Given the description of an element on the screen output the (x, y) to click on. 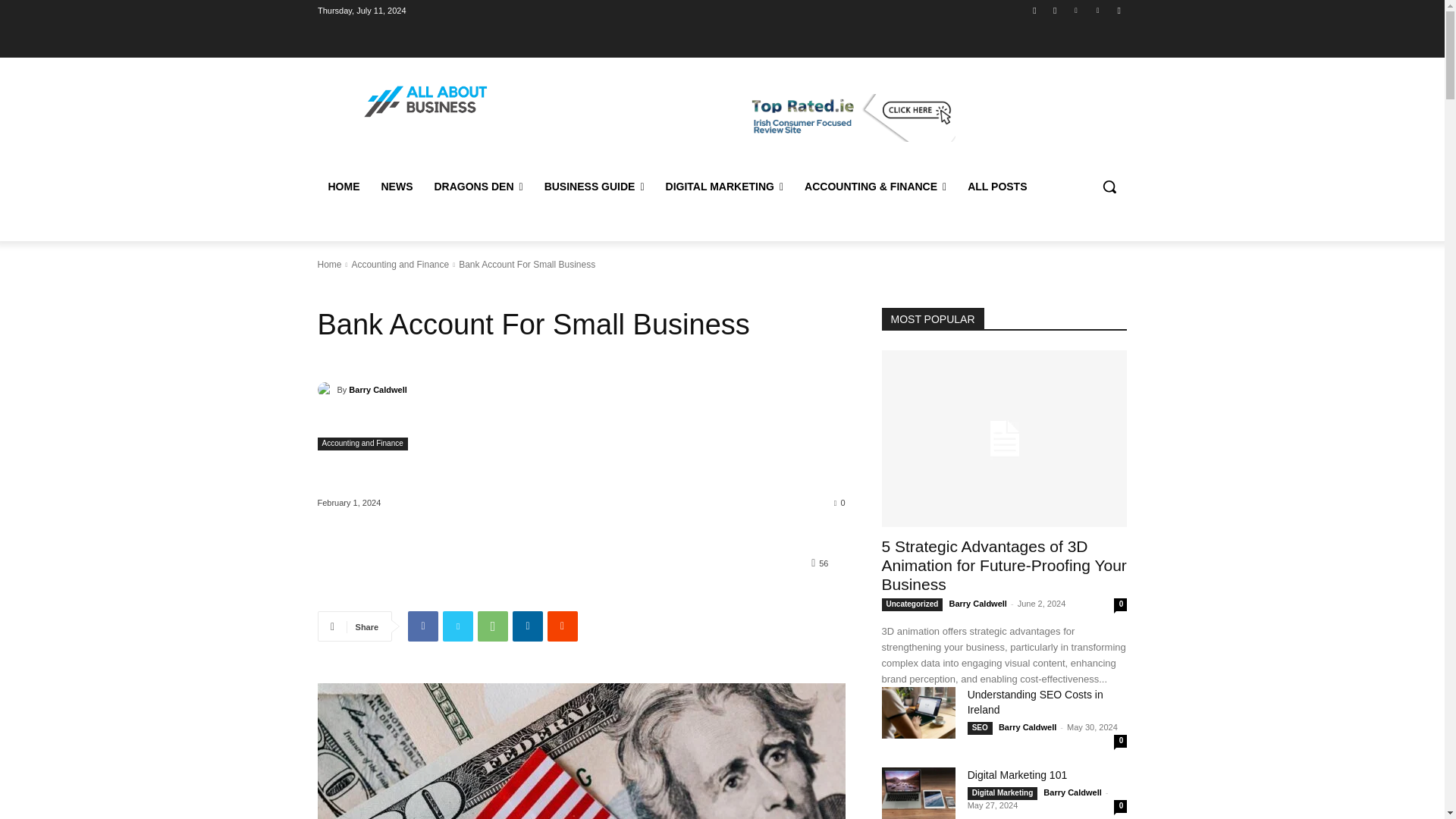
All About Business In Ireland (426, 101)
Youtube (1117, 9)
Facebook (1034, 9)
HOME (343, 186)
Twitter (1075, 9)
Vimeo (1097, 9)
Instagram (1055, 9)
